Given the description of an element on the screen output the (x, y) to click on. 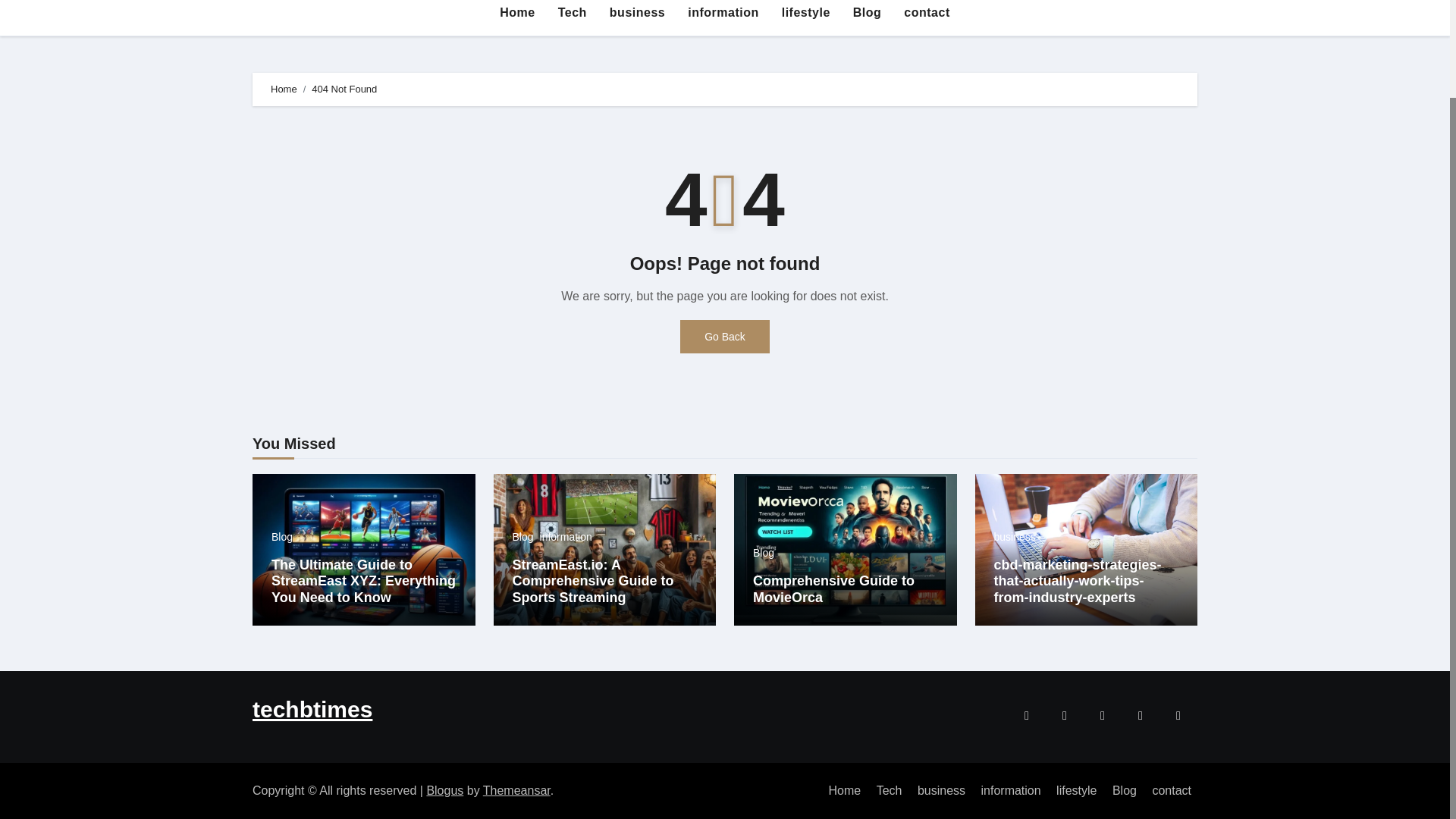
business (1013, 536)
business (637, 14)
contact (926, 14)
Permalink to: Comprehensive Guide to MovieOrca (833, 589)
information (723, 14)
Tech (572, 14)
Go Back (724, 336)
StreamEast.io: A Comprehensive Guide to Sports Streaming (593, 581)
Comprehensive Guide to MovieOrca (833, 589)
information (566, 536)
lifestyle (805, 14)
Blog (281, 536)
Blog (1124, 790)
